Given the description of an element on the screen output the (x, y) to click on. 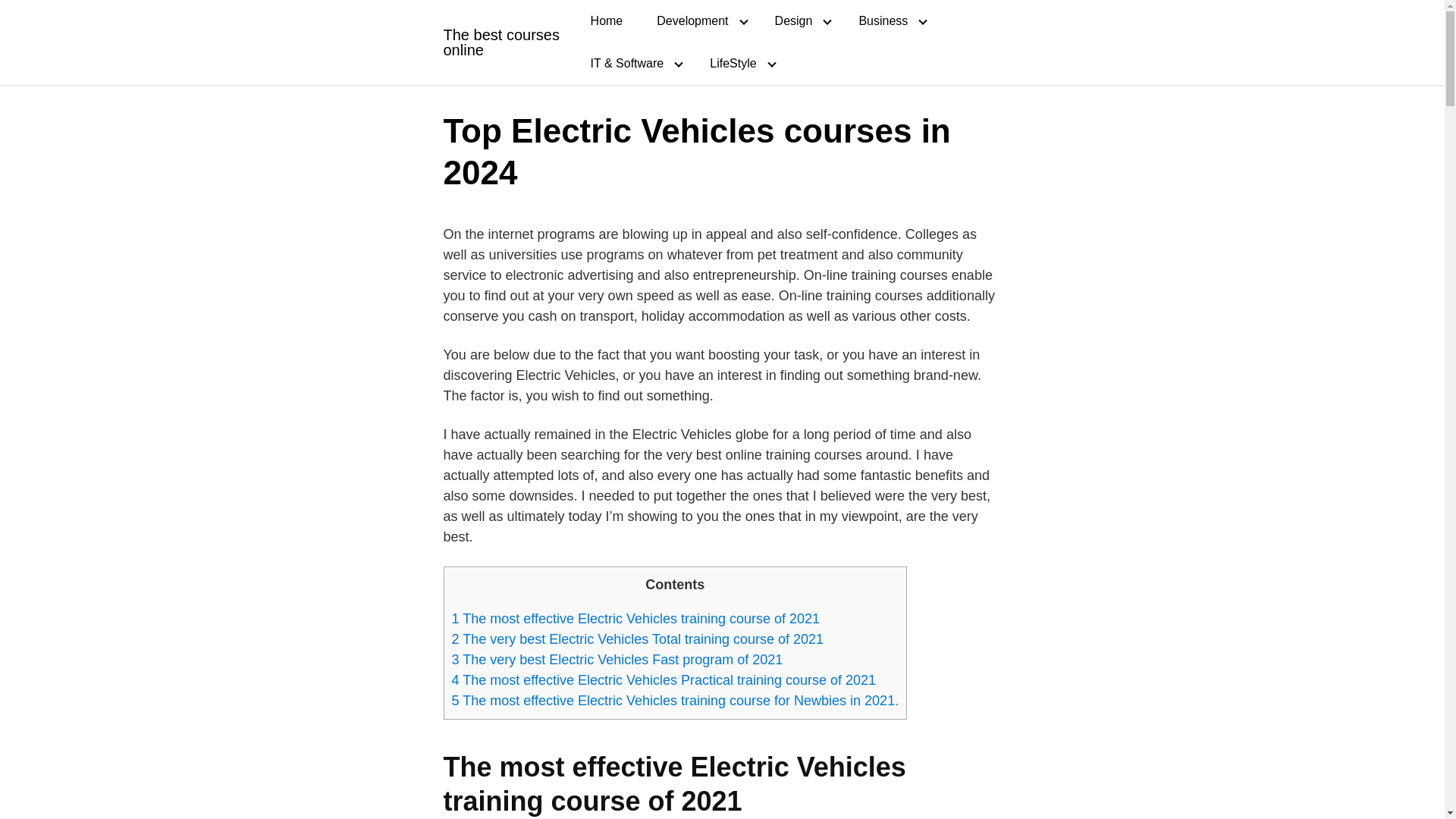
Design (800, 21)
Home (607, 21)
Development (698, 21)
The best courses online (502, 42)
LifeStyle (738, 63)
Business (888, 21)
3 The very best Electric Vehicles Fast program of 2021 (617, 659)
